Given the description of an element on the screen output the (x, y) to click on. 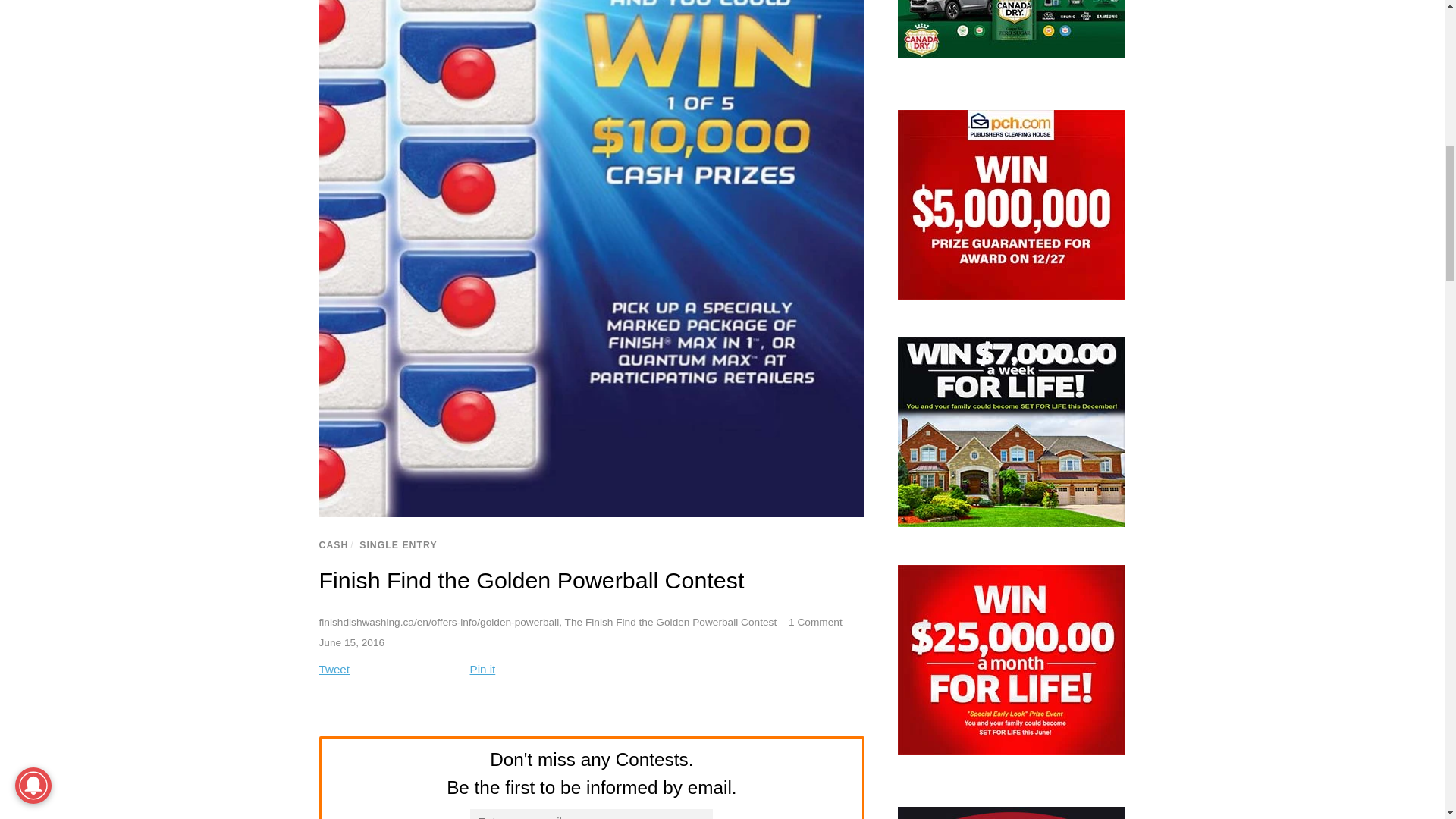
Pin it (483, 668)
CASH (332, 544)
1 Comment (816, 622)
SINGLE ENTRY (397, 544)
The Finish Find the Golden Powerball Contest (670, 622)
Tweet (333, 668)
